Given the description of an element on the screen output the (x, y) to click on. 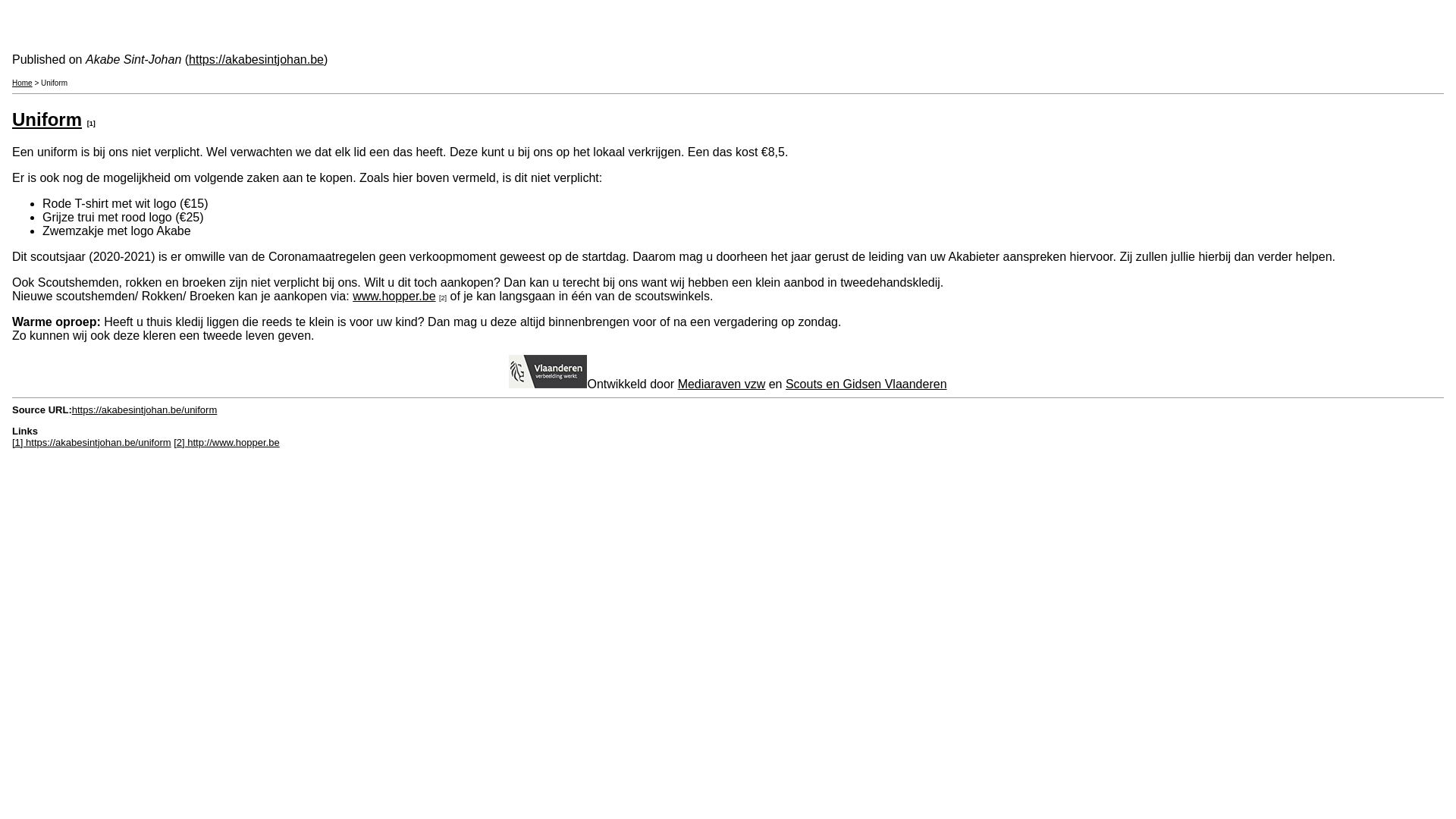
https://akabesintjohan.be/uniform Element type: text (144, 409)
[2] http://www.hopper.be Element type: text (226, 442)
Home Element type: text (22, 82)
Mediaraven vzw Element type: text (721, 383)
Uniform Element type: text (46, 119)
[1] https://akabesintjohan.be/uniform Element type: text (91, 442)
Scouts en Gidsen Vlaanderen Element type: text (866, 383)
www.hopper.be Element type: text (393, 295)
https://akabesintjohan.be Element type: text (255, 59)
